Given the description of an element on the screen output the (x, y) to click on. 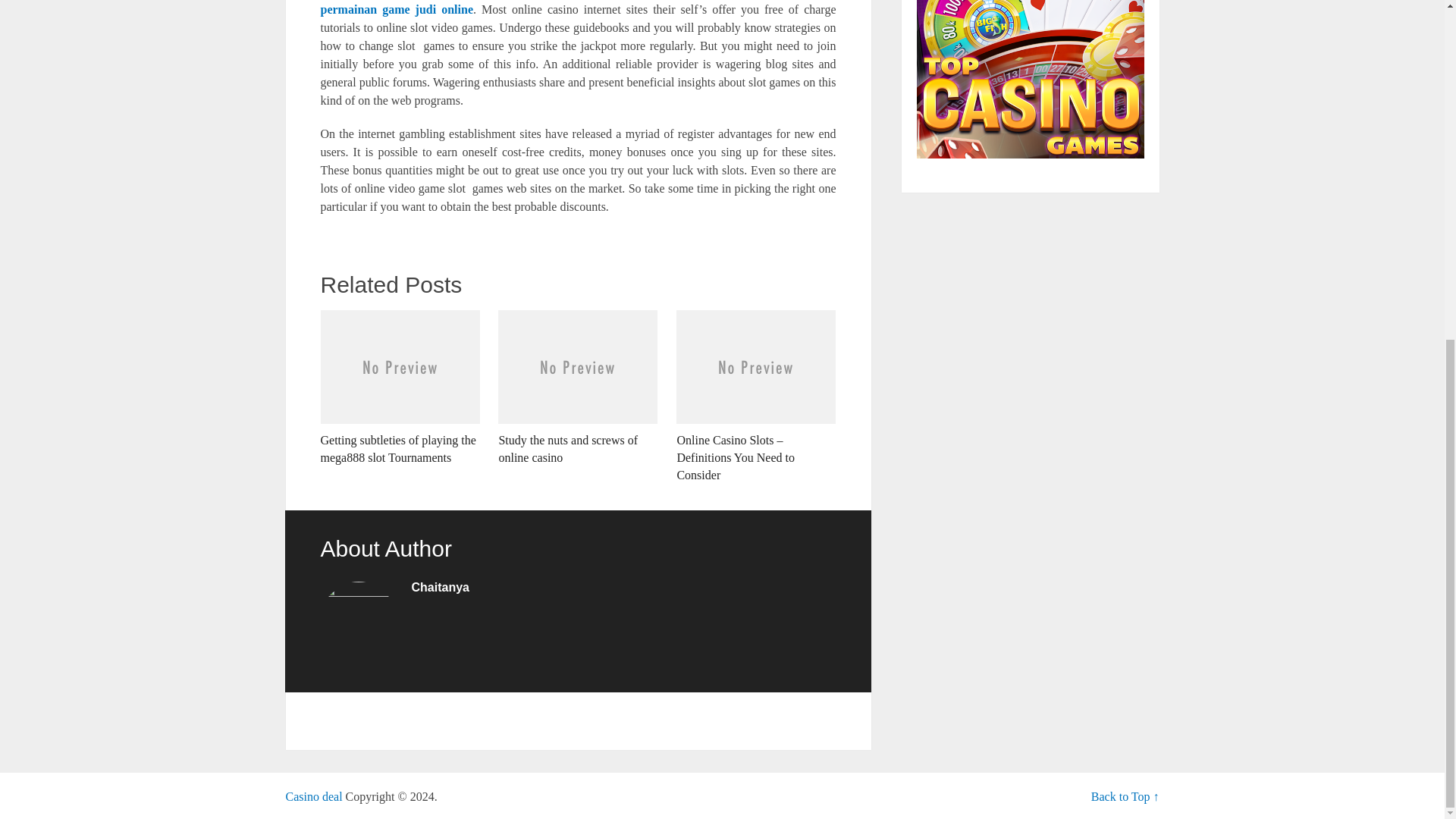
Getting subtleties of playing the mega888 slot Tournaments (399, 388)
Study the nuts and screws of online casino (577, 388)
permainan game judi online (396, 9)
Casino deal (313, 796)
Casino deal (313, 796)
Getting subtleties of playing the mega888 slot Tournaments (399, 388)
Study the nuts and screws of online casino (577, 388)
